Given the description of an element on the screen output the (x, y) to click on. 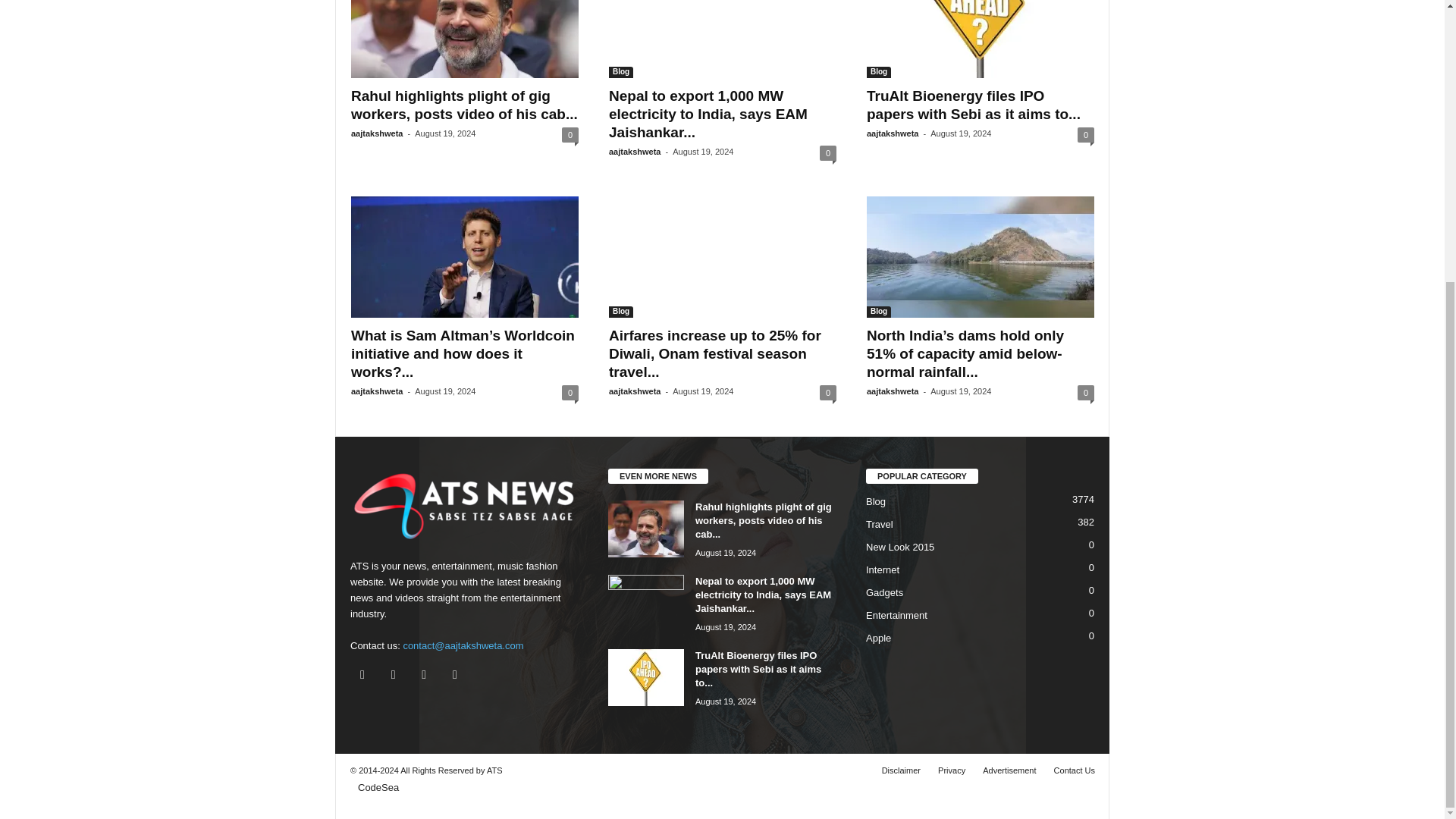
Blog (620, 71)
0 (570, 134)
aajtakshweta (376, 133)
